Given the description of an element on the screen output the (x, y) to click on. 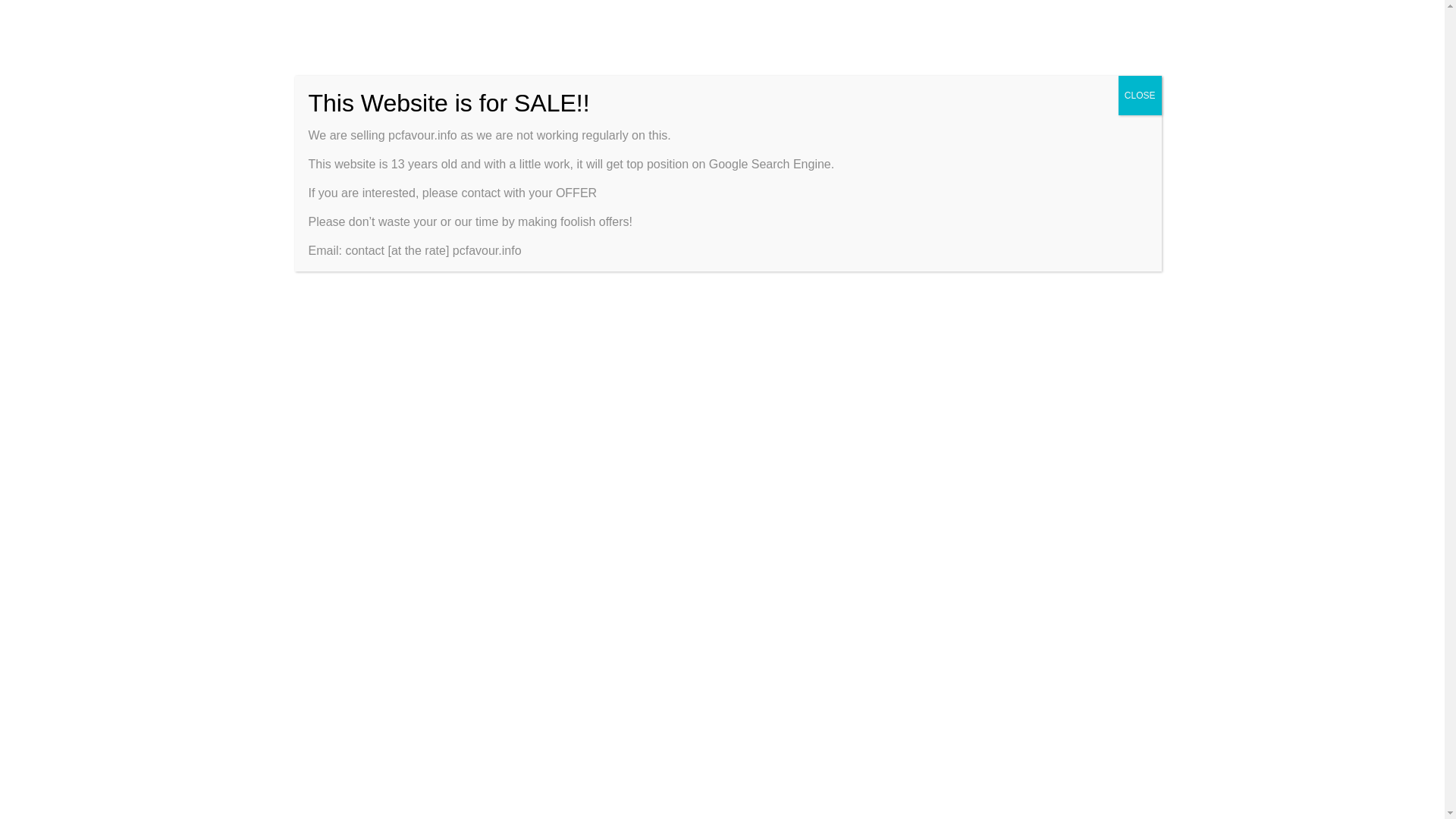
Submit Product (898, 17)
Contact Us (647, 17)
Adobe PhotoShop CS6 for Windows (948, 261)
Suzuki Swift 1.2 L 2022 All Variants Comparison (948, 191)
MOBILE SPECS (850, 62)
SOFTWARE (727, 62)
PC Software (460, 158)
Report Abuse File (809, 17)
Services (969, 17)
GAMES (497, 62)
INFORMATION (607, 62)
Home (339, 158)
NEWS (951, 62)
Suzuki Swift 1.2 L 2022 All Variants Comparison (1035, 183)
View all posts in PC Software (363, 221)
